Given the description of an element on the screen output the (x, y) to click on. 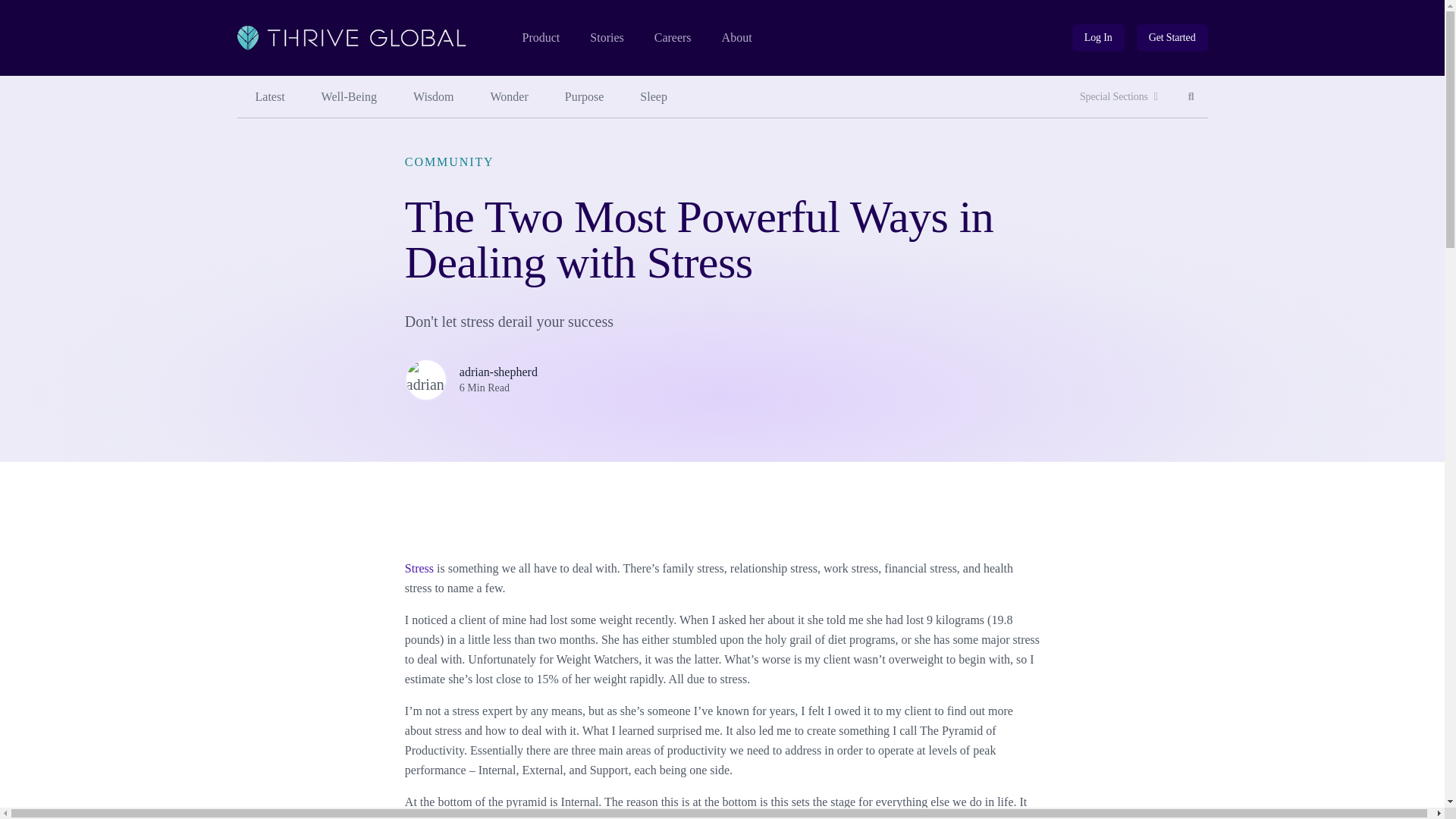
btn-primary (1172, 37)
Careers (672, 37)
Special Sections (1118, 97)
Get Started (1172, 37)
Product (540, 37)
Wisdom (432, 96)
Latest (268, 96)
btn-info (1097, 37)
Well-Being (348, 96)
About (737, 37)
